Given the description of an element on the screen output the (x, y) to click on. 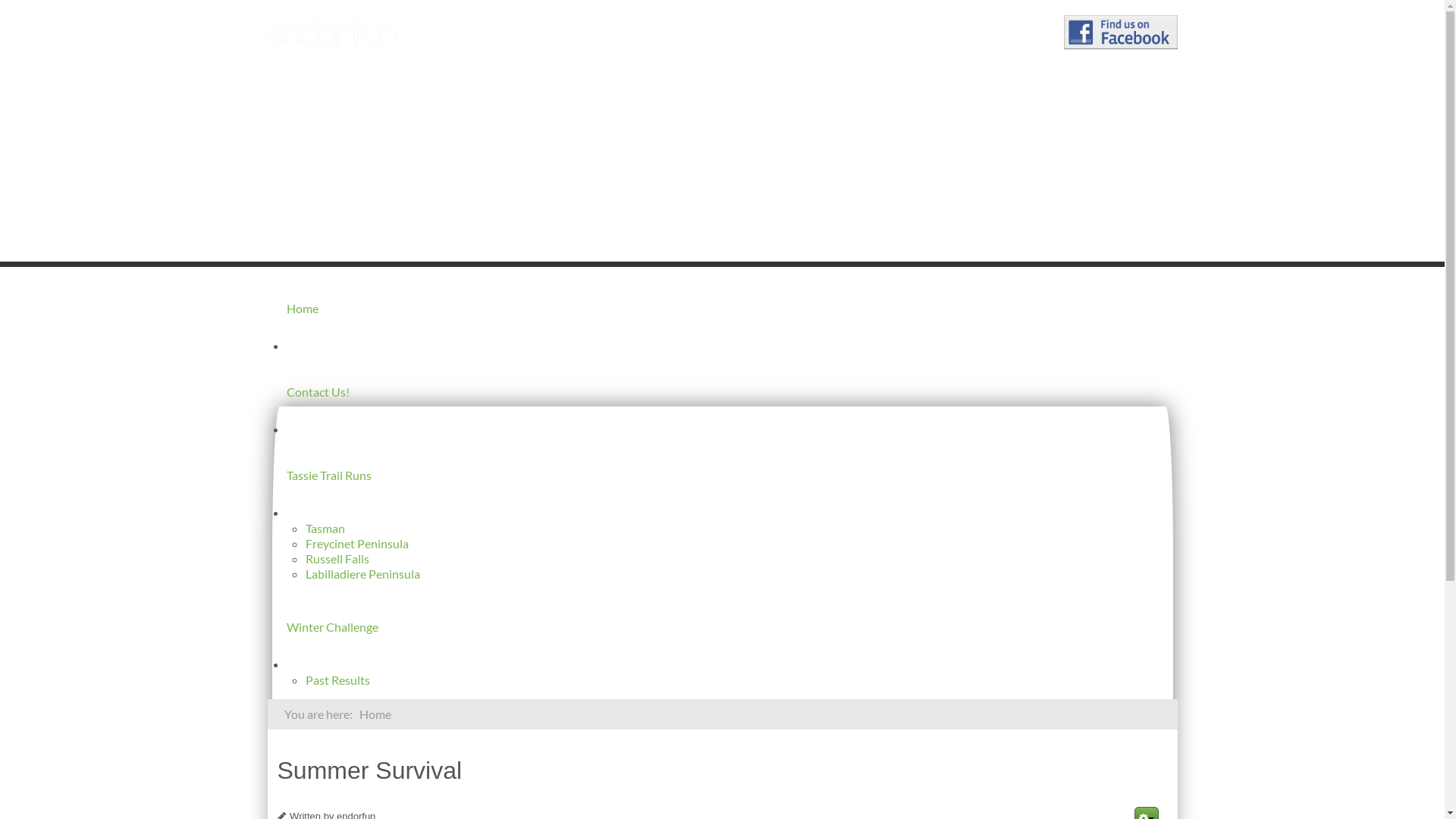
Winter Challenge Element type: text (397, 626)
Tassie Trail Runs Element type: text (397, 475)
Home Element type: text (397, 308)
Tasman Element type: text (324, 527)
Russell Falls Element type: text (336, 558)
Freycinet Peninsula Element type: text (355, 543)
Labilladiere Peninsula Element type: text (361, 573)
Contact Us! Element type: text (397, 391)
Past Results Element type: text (336, 679)
